Given the description of an element on the screen output the (x, y) to click on. 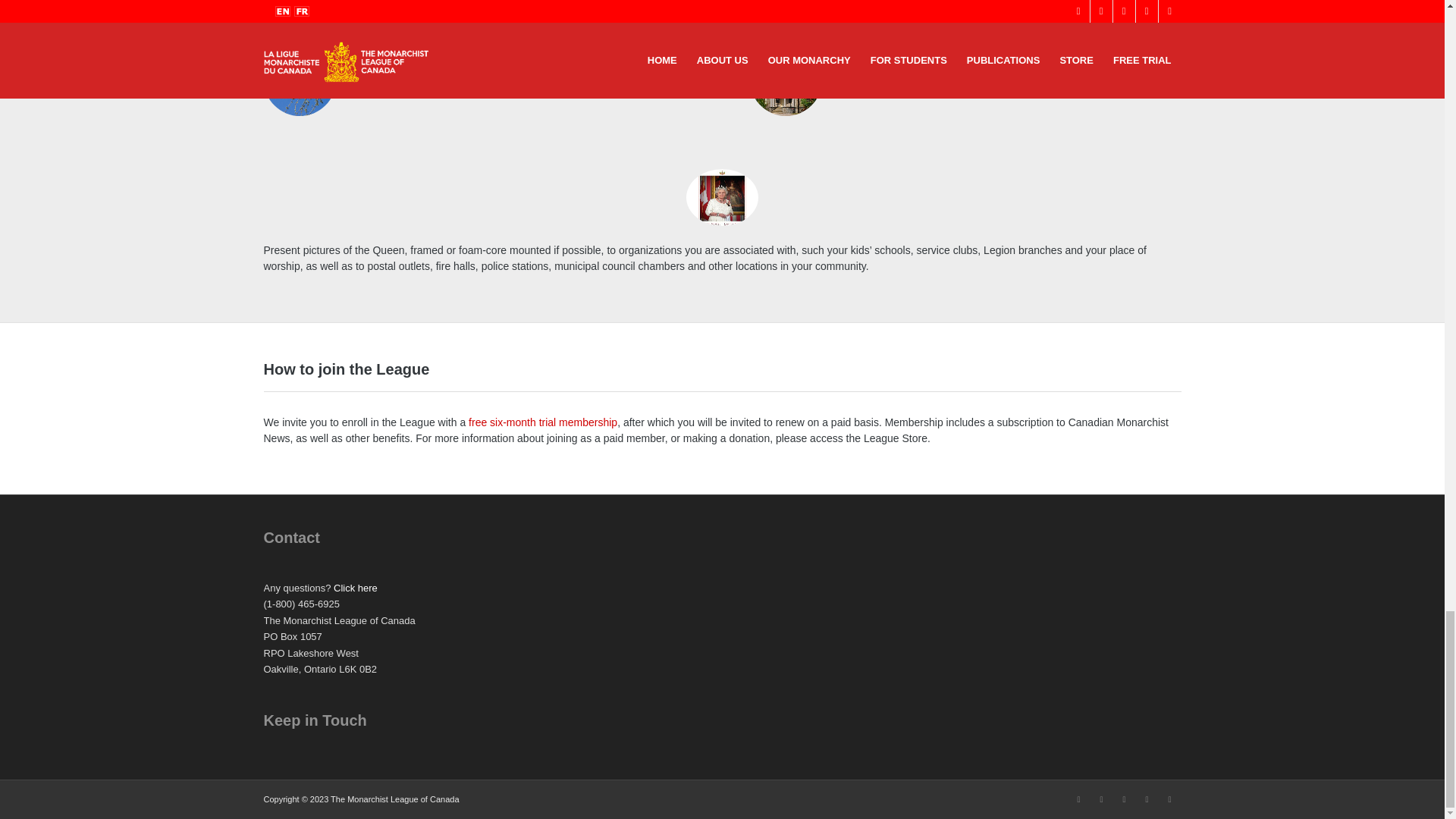
Tumblr (1169, 798)
Instagram (1146, 798)
Facebook (1078, 798)
Twitter (1101, 798)
Youtube (1124, 798)
